Given the description of an element on the screen output the (x, y) to click on. 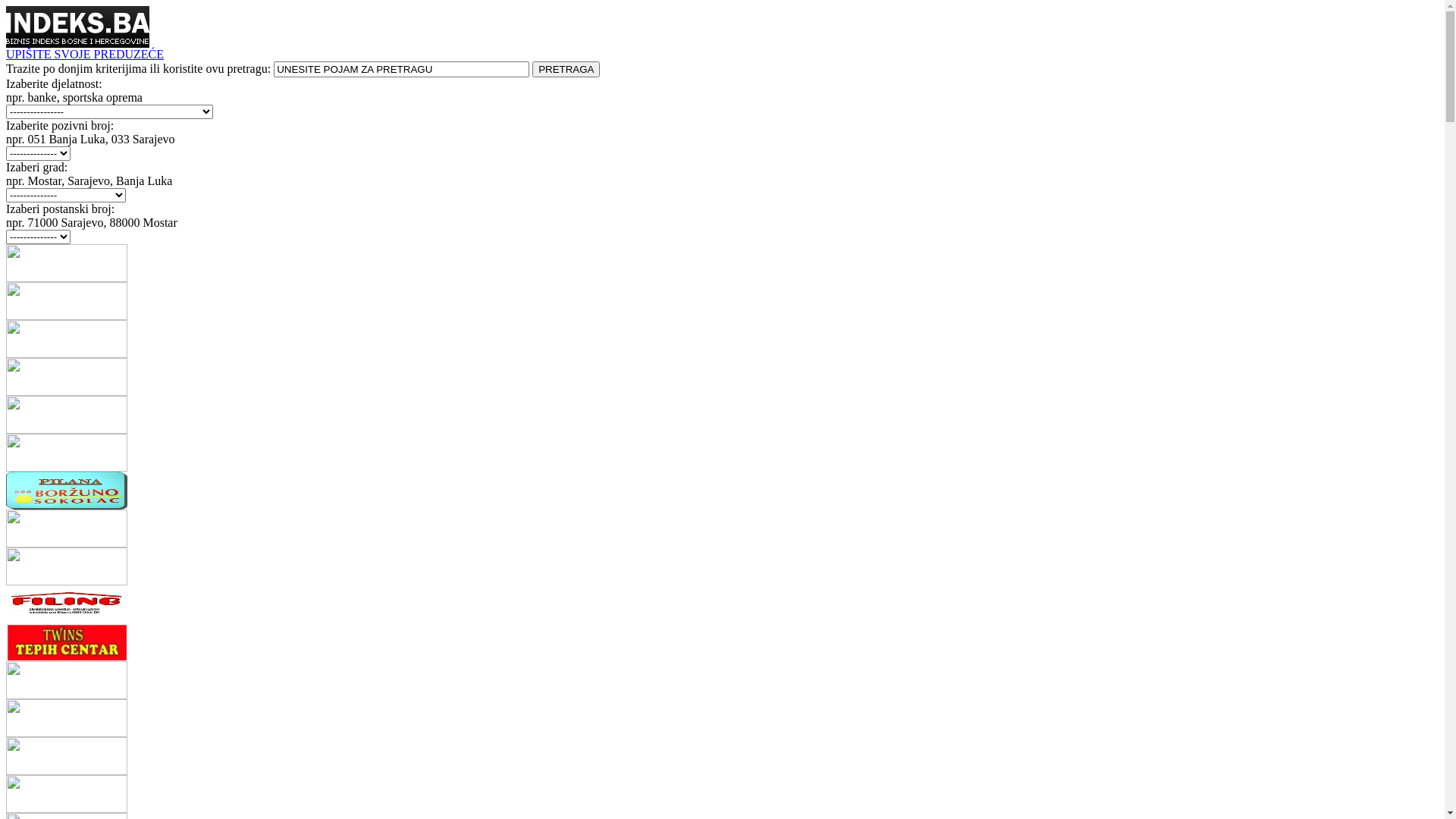
PRETRAGA Element type: text (565, 69)
